Given the description of an element on the screen output the (x, y) to click on. 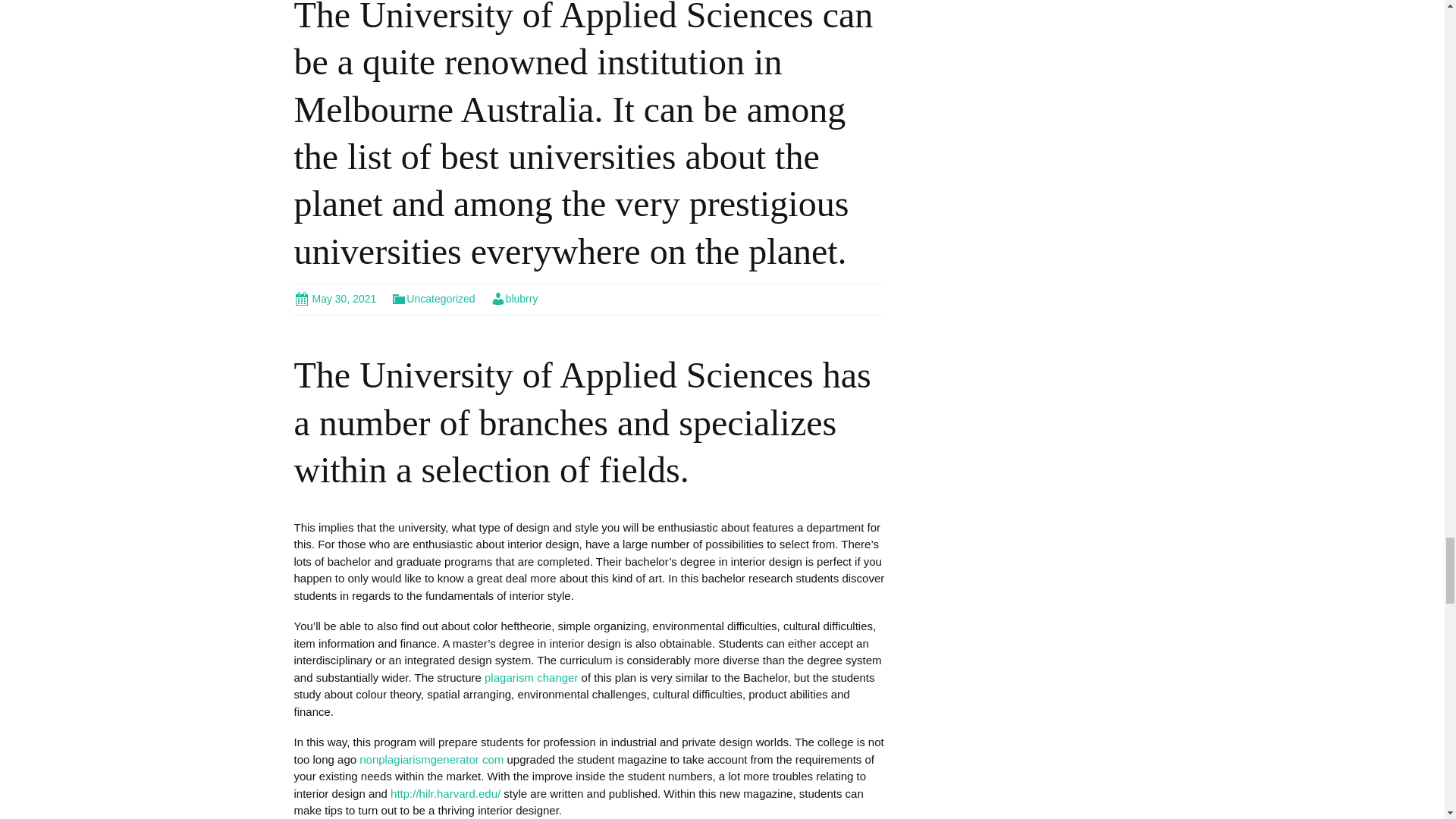
View all posts by blubrry (514, 298)
